Given the description of an element on the screen output the (x, y) to click on. 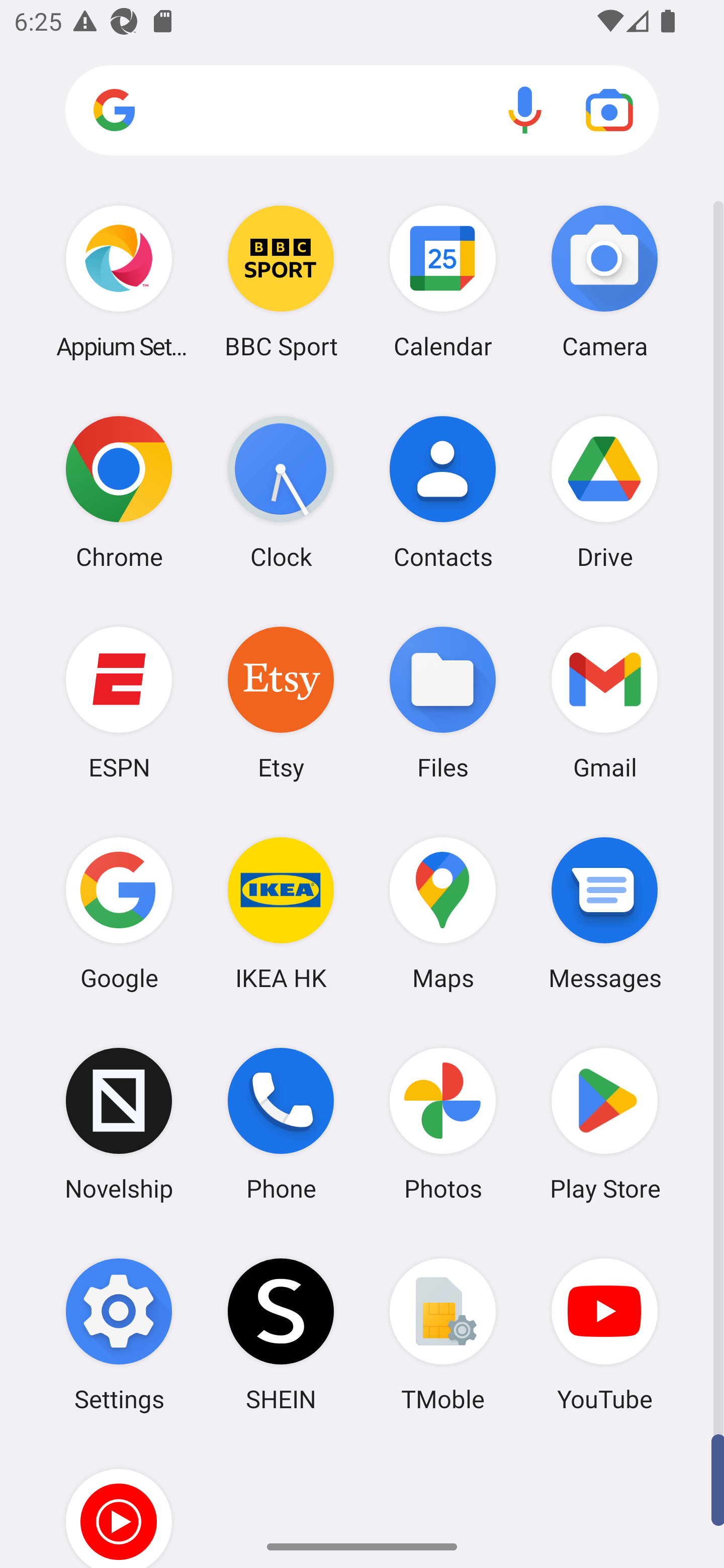
Search apps, web and more (361, 110)
Voice search (524, 109)
Google Lens (608, 109)
Appium Settings (118, 281)
BBC Sport (280, 281)
Calendar (443, 281)
Camera (604, 281)
Chrome (118, 492)
Clock (280, 492)
Contacts (443, 492)
Drive (604, 492)
ESPN (118, 702)
Etsy (280, 702)
Files (443, 702)
Gmail (604, 702)
Google (118, 913)
IKEA HK (280, 913)
Maps (443, 913)
Messages (604, 913)
Novelship (118, 1124)
Phone (280, 1124)
Photos (443, 1124)
Play Store (604, 1124)
Settings (118, 1334)
SHEIN (280, 1334)
TMoble (443, 1334)
YouTube (604, 1334)
YT Music (118, 1503)
